Given the description of an element on the screen output the (x, y) to click on. 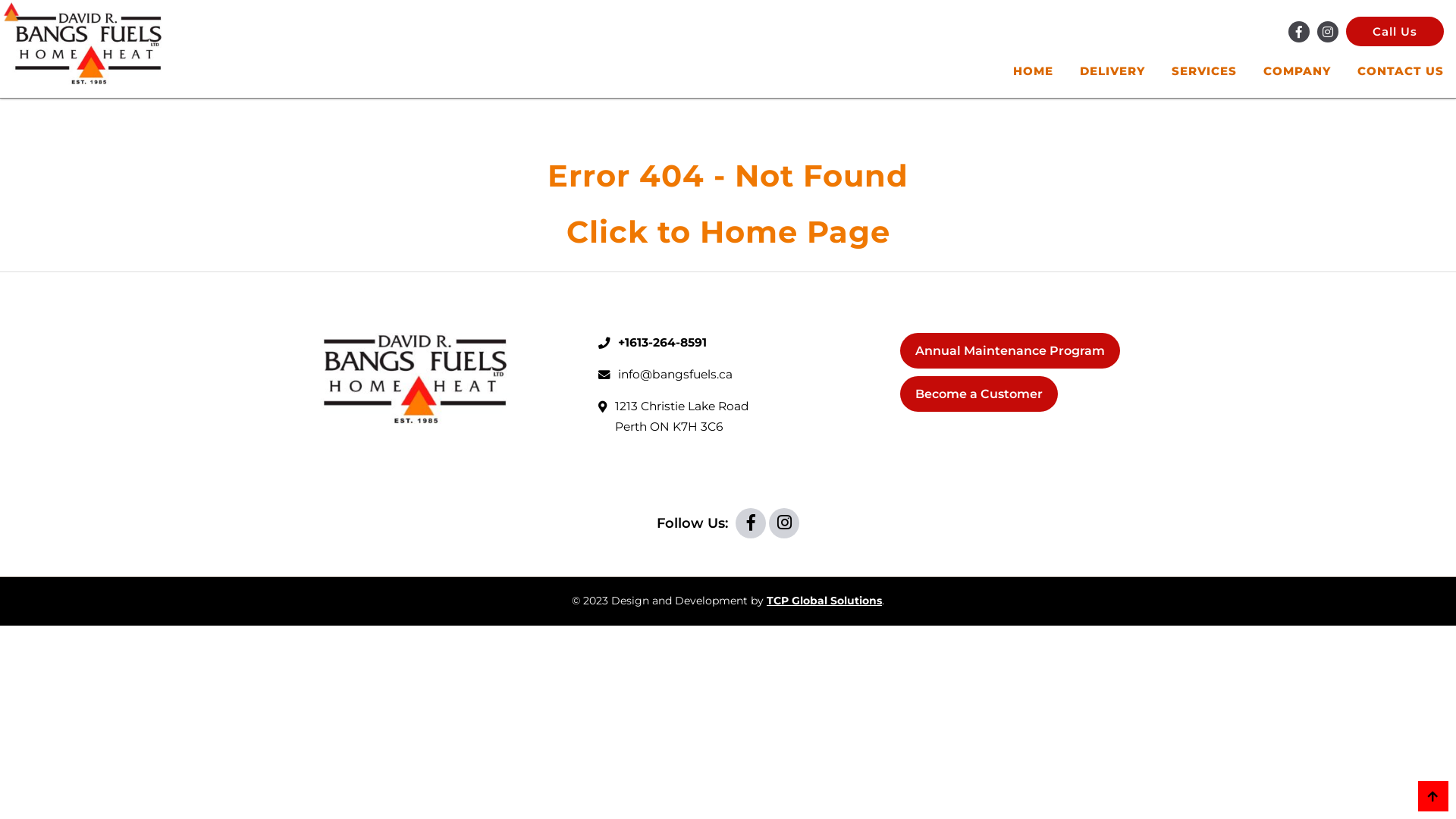
SERVICES Element type: text (1203, 71)
Call Us Element type: text (1394, 31)
COMPANY Element type: text (1296, 71)
1213 Christie Lake Road
Perth ON K7H 3C6 Element type: text (673, 416)
info@bangsfuels.ca Element type: text (675, 374)
+1613-264-8591 Element type: text (662, 342)
Click to Home Page Element type: text (727, 231)
HOME Element type: text (1033, 71)
Become a Customer Element type: text (978, 393)
Annual Maintenance Program Element type: text (1010, 350)
CONTACT US Element type: text (1400, 71)
TCP Global Solutions Element type: text (823, 600)
DELIVERY Element type: text (1112, 71)
